Given the description of an element on the screen output the (x, y) to click on. 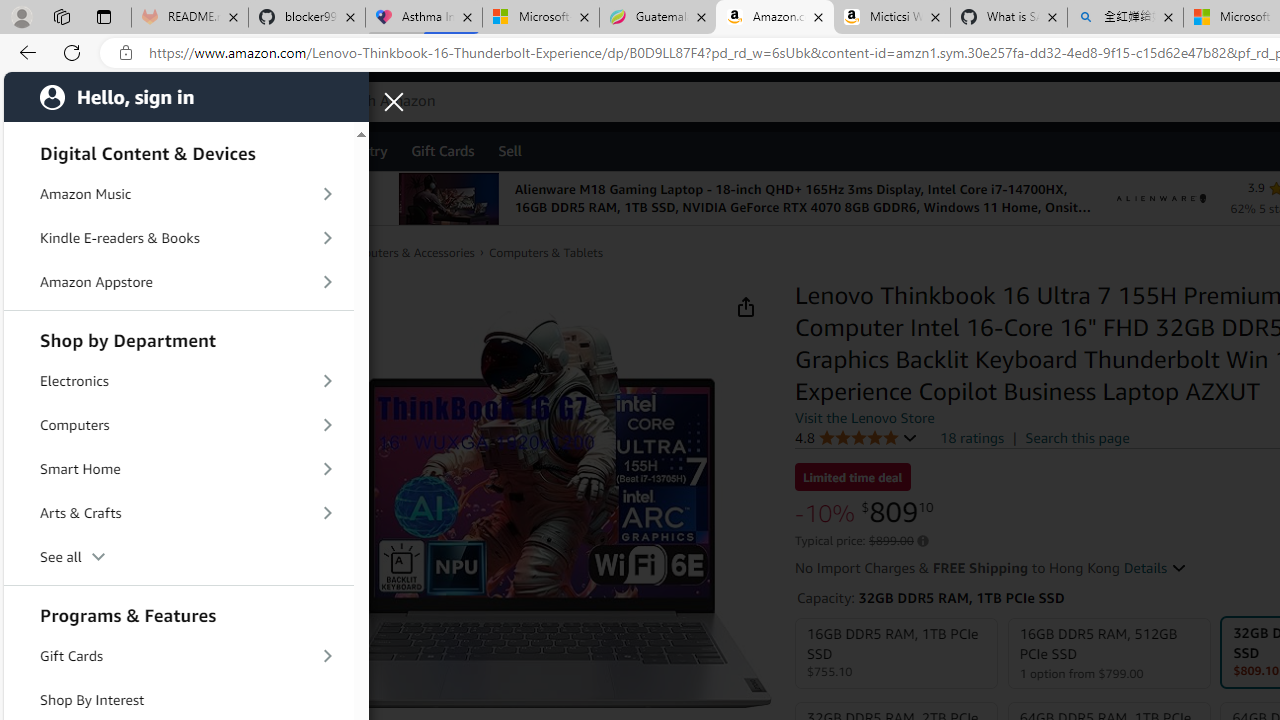
Computers (178, 424)
Computers & Accessories (406, 251)
Learn more about Amazon pricing and savings (922, 541)
16GB DDR5 RAM, 1TB PCIe SSD $755.10 (897, 653)
18 ratings (971, 438)
Sell (509, 150)
Computers & Tablets (544, 252)
4.8 4.8 out of 5 stars (856, 437)
See all (178, 556)
Electronics (178, 381)
Asthma Inhalers: Names and Types (424, 17)
Digital Content & Devices (178, 150)
Gift Cards (178, 656)
